Given the description of an element on the screen output the (x, y) to click on. 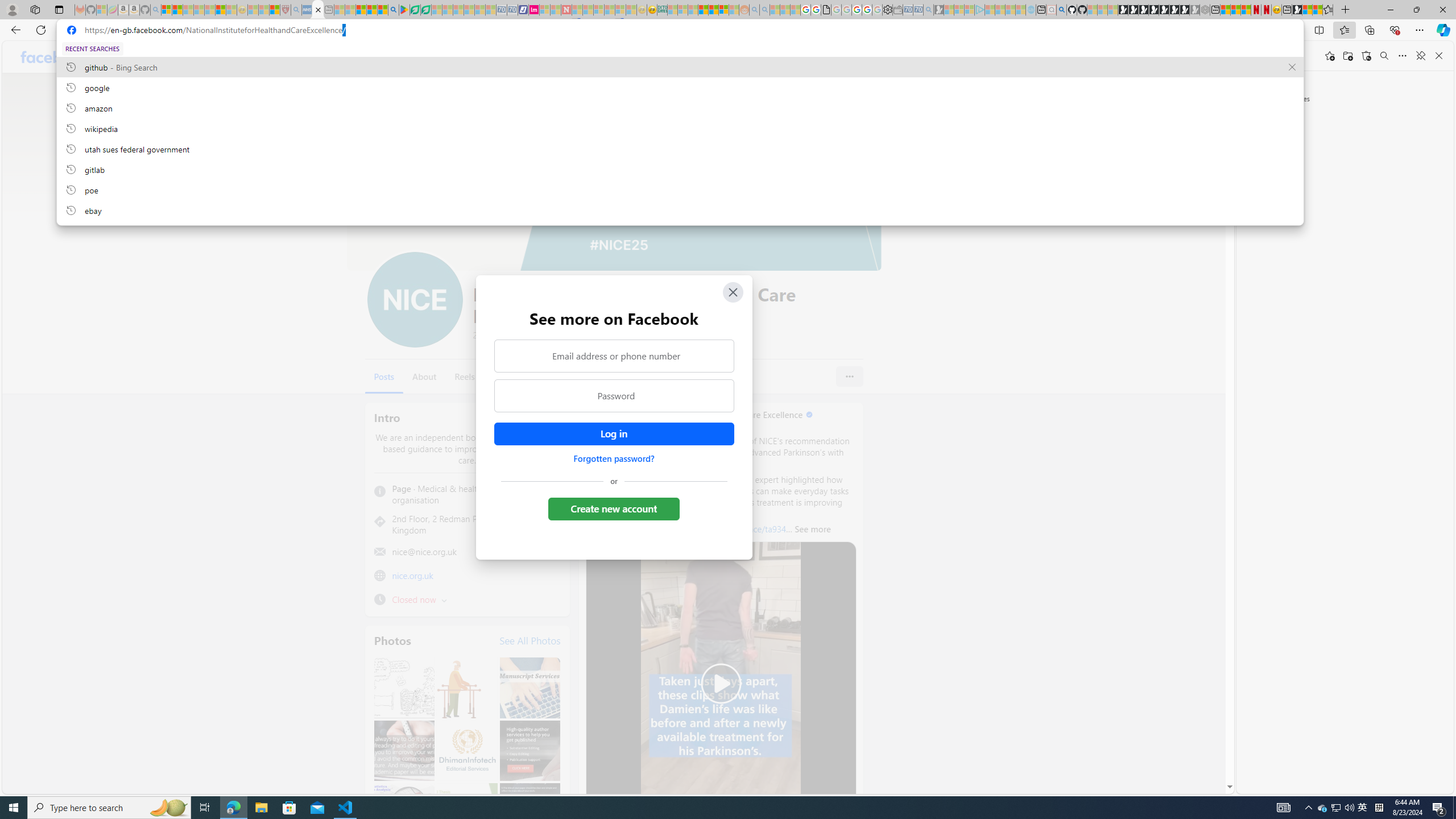
Microsoft Start - Sleeping (1010, 9)
wikipedia, recent searches from history (679, 127)
Forgotten account? (1170, 55)
google_privacy_policy_zh-CN.pdf (825, 9)
Microsoft-Report a Concern to Bing - Sleeping (101, 9)
Pets - MSN (371, 9)
github, recent searches from history (679, 66)
poe, recent searches from history (679, 189)
